Given the description of an element on the screen output the (x, y) to click on. 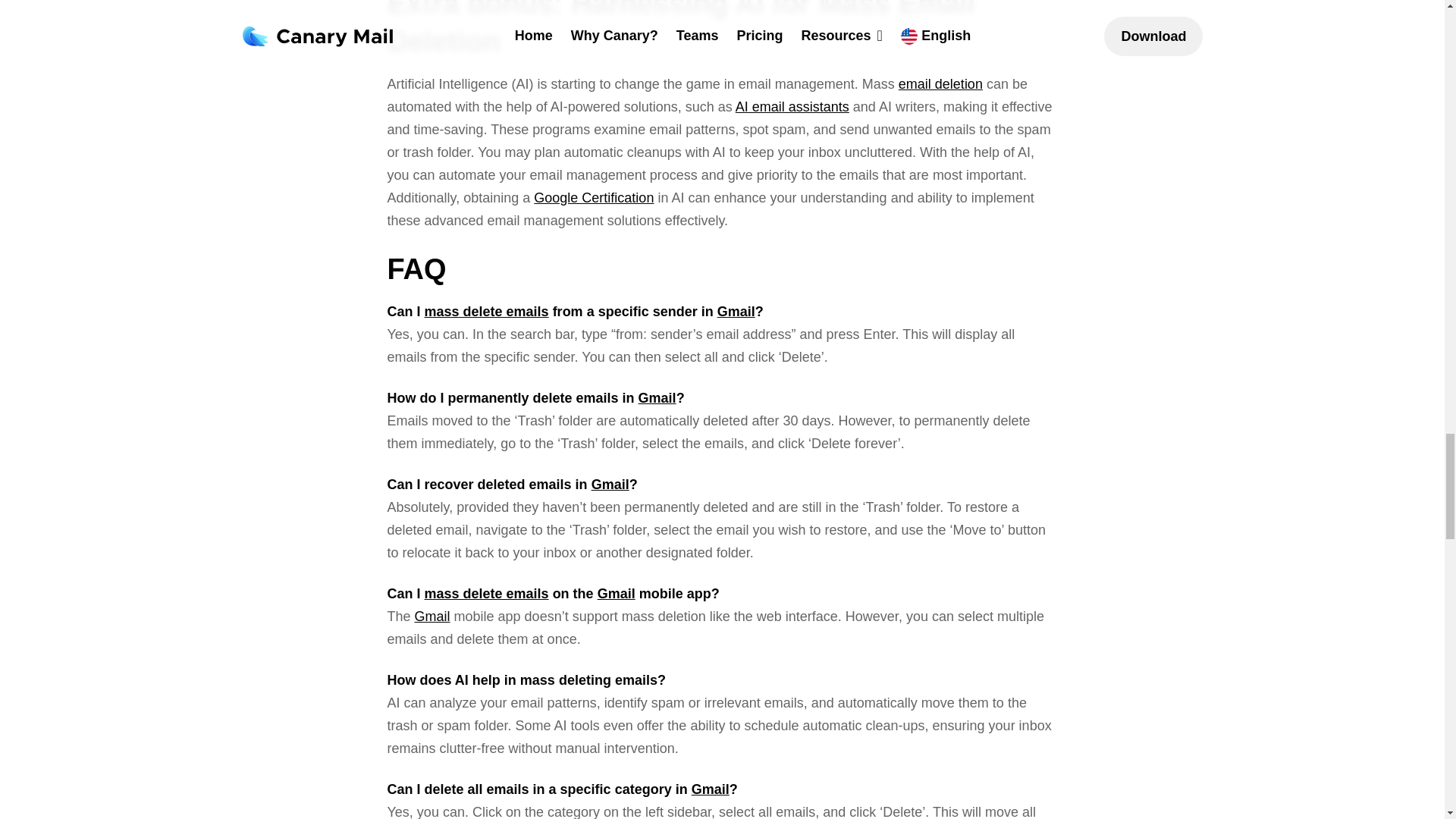
email deletion (940, 83)
Gmail (615, 593)
AI email assistants (791, 106)
Gmail (431, 616)
Gmail (658, 397)
mass delete emails (486, 593)
Gmail (736, 311)
Gmail (609, 484)
mass delete emails (486, 311)
Google Certification (593, 197)
